Given the description of an element on the screen output the (x, y) to click on. 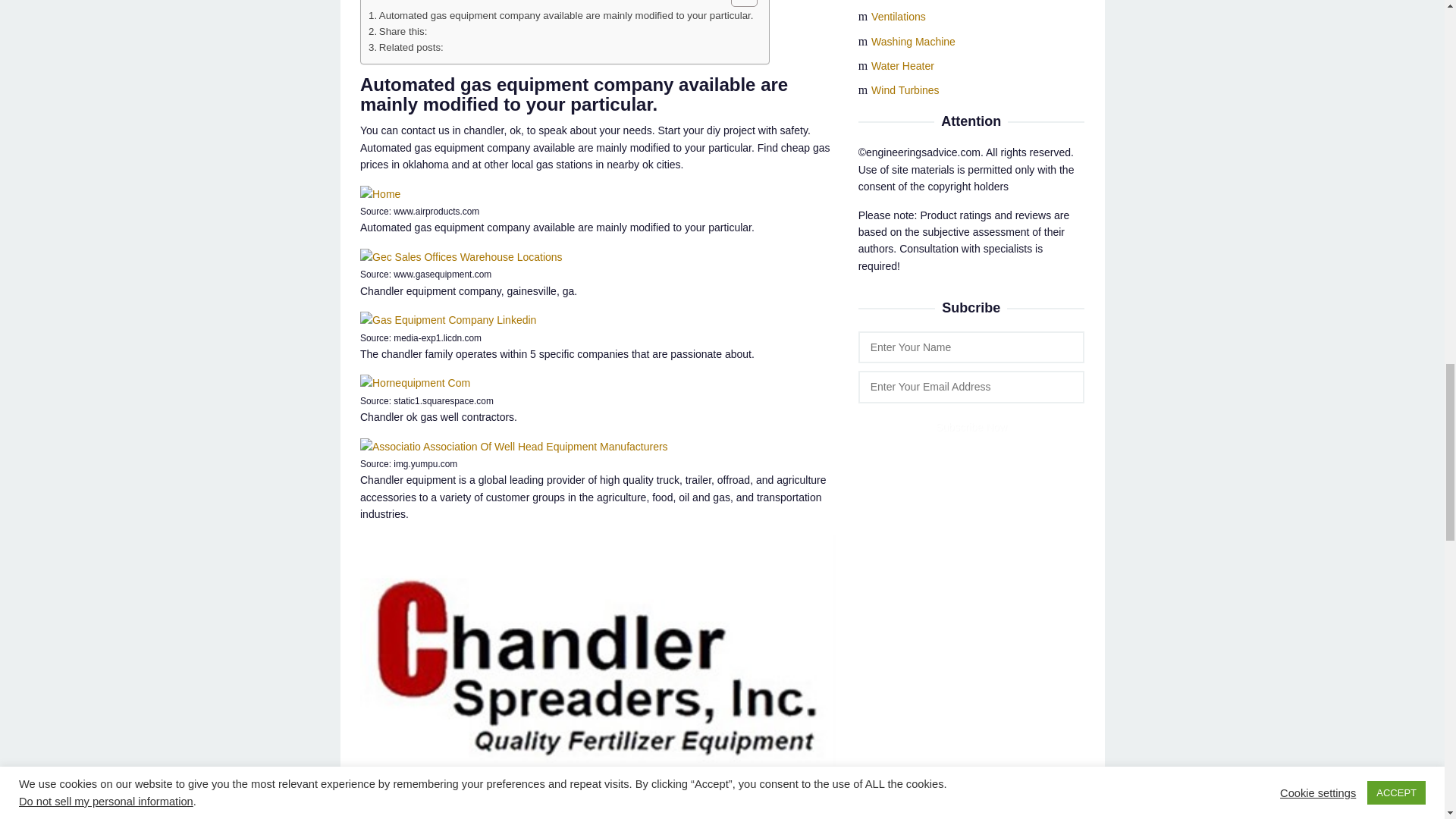
Related posts: (406, 47)
Share this: (397, 31)
Share this: (397, 31)
Related posts: (406, 47)
Subscribe Now (971, 427)
